Given the description of an element on the screen output the (x, y) to click on. 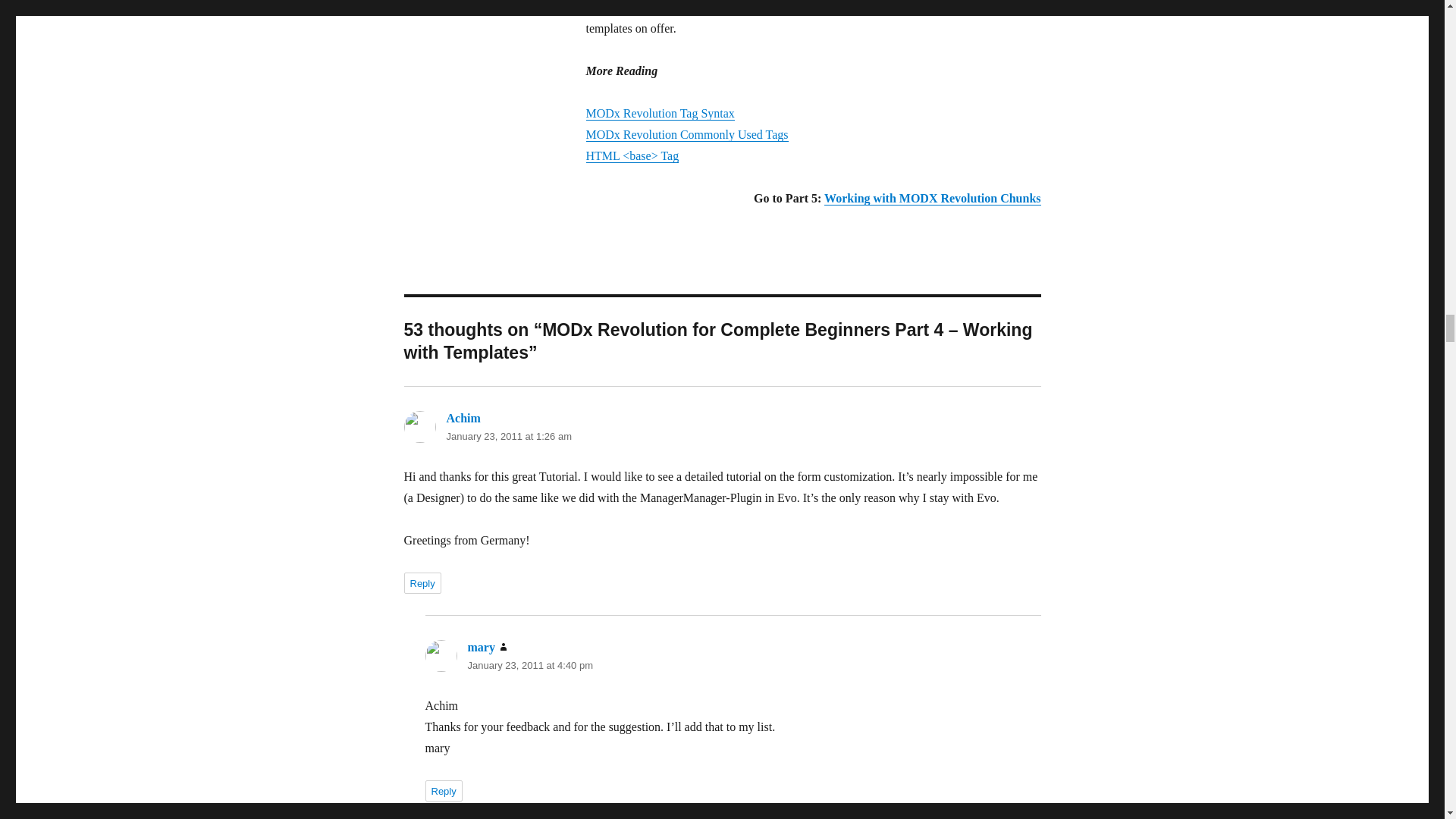
Working with MODX Revolution Chunks (932, 197)
MODx Revolution Commonly Used Tags (686, 133)
MODx Revolution Tag Syntax (659, 113)
Themeforest (870, 6)
